Given the description of an element on the screen output the (x, y) to click on. 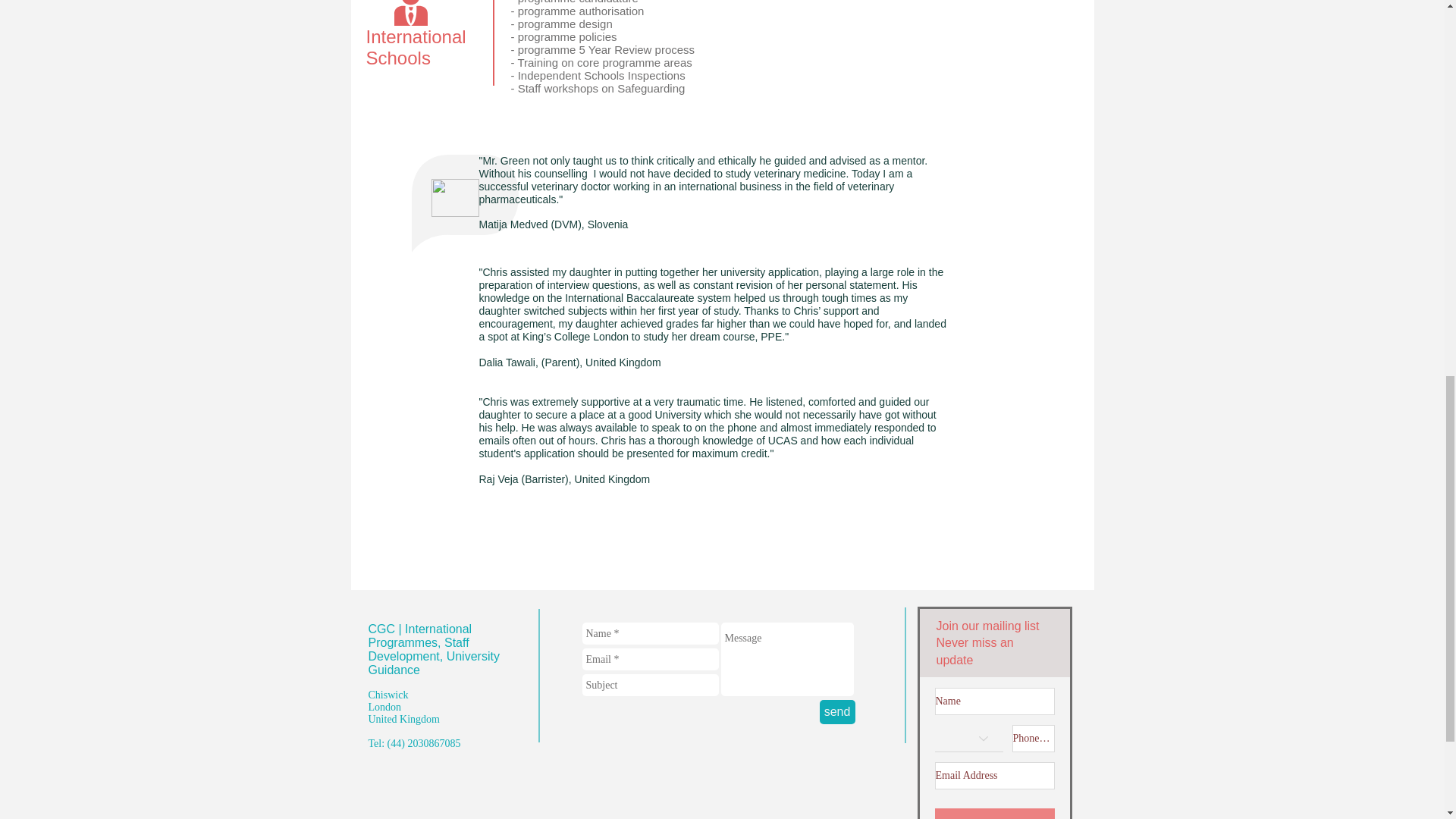
Subscribe Now (994, 813)
send (836, 711)
